Given the description of an element on the screen output the (x, y) to click on. 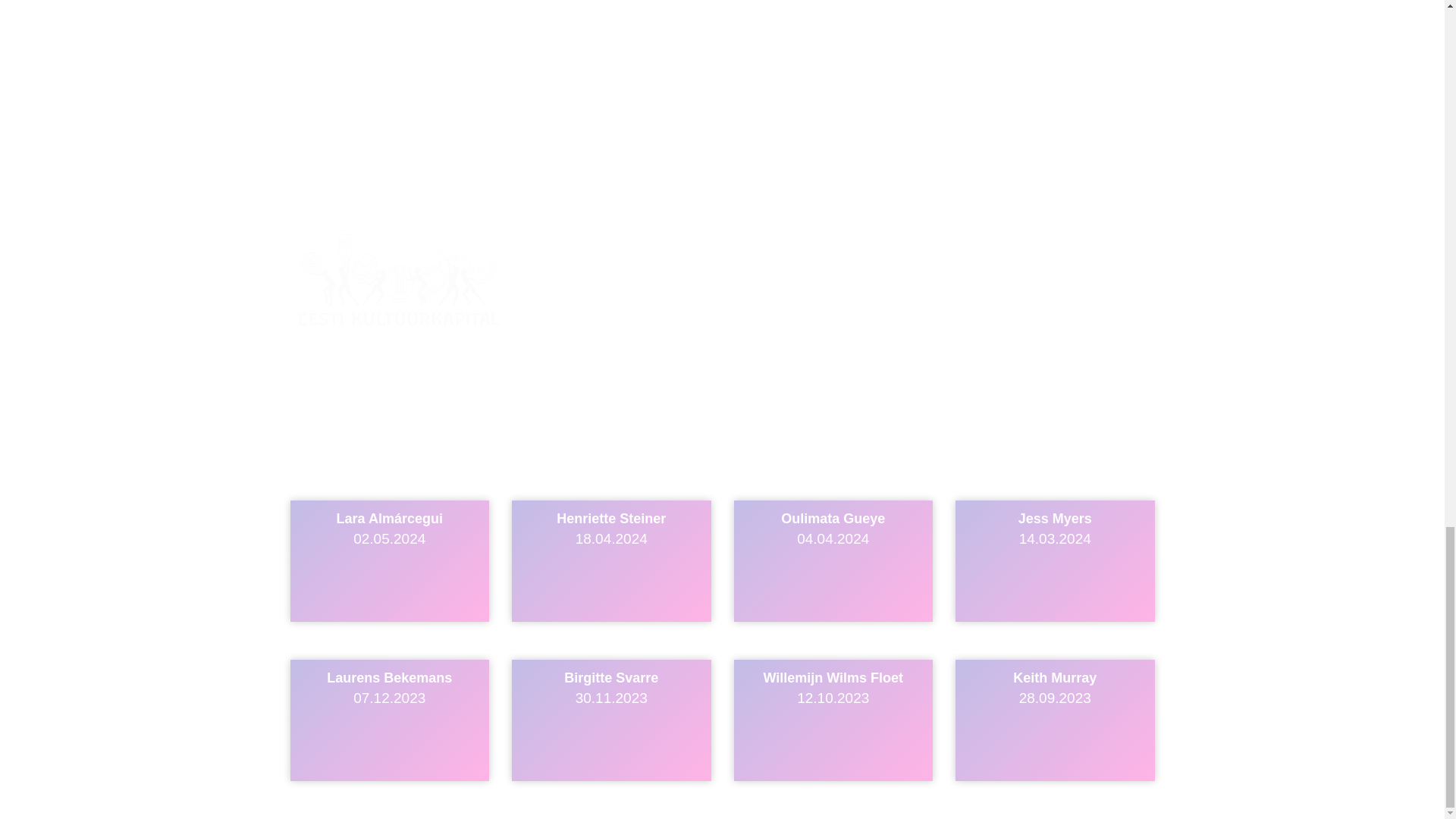
Oulimata Gueye (833, 560)
Jess Myers (833, 720)
Birgitte Svarre (611, 560)
Keith Murray (389, 720)
Henriette Steiner (1054, 560)
Laurens Bekemans (1054, 720)
Willemijn Wilms Floet (611, 720)
